Given the description of an element on the screen output the (x, y) to click on. 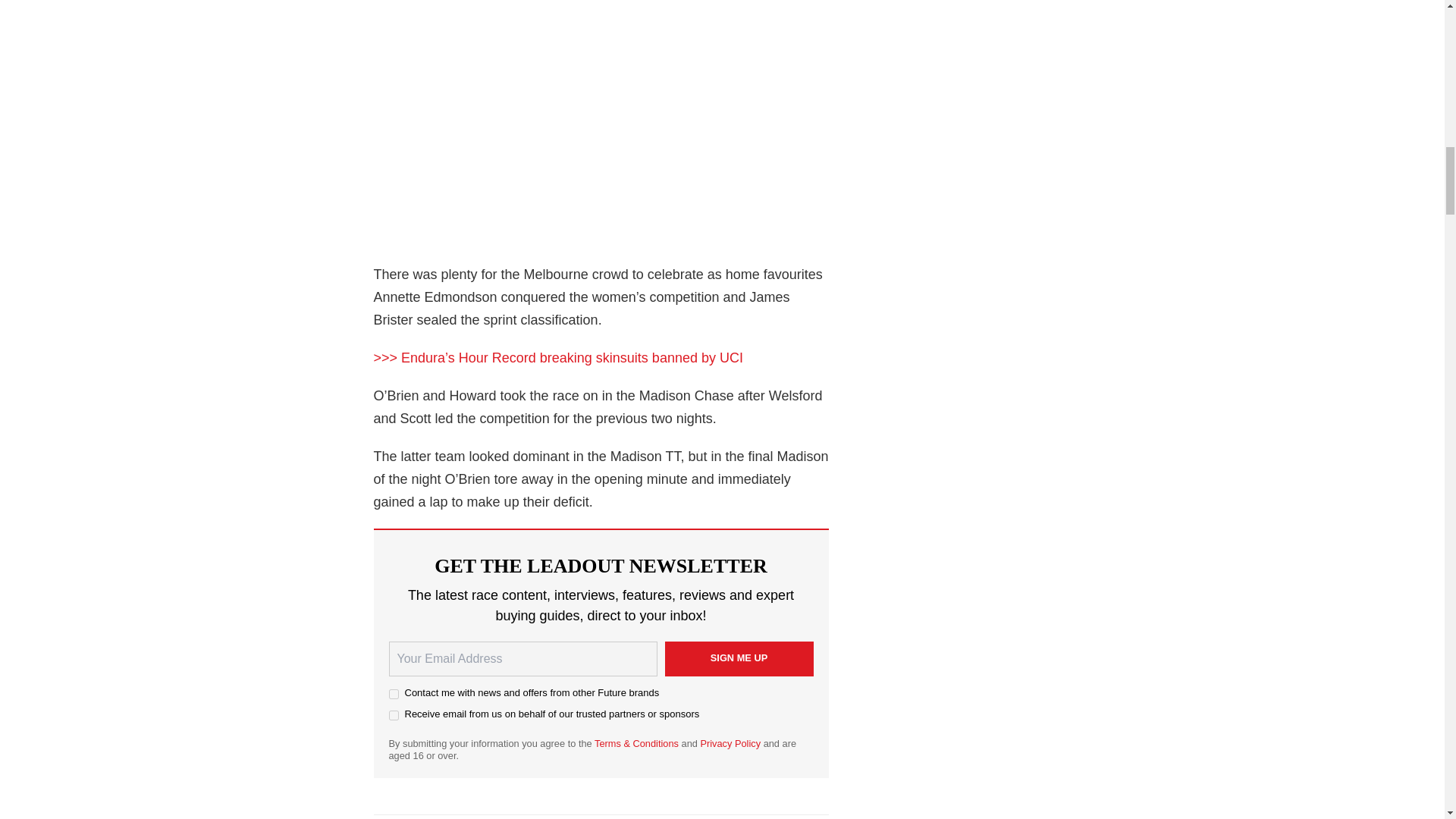
on (392, 694)
Sign me up (737, 658)
on (392, 715)
